Given the description of an element on the screen output the (x, y) to click on. 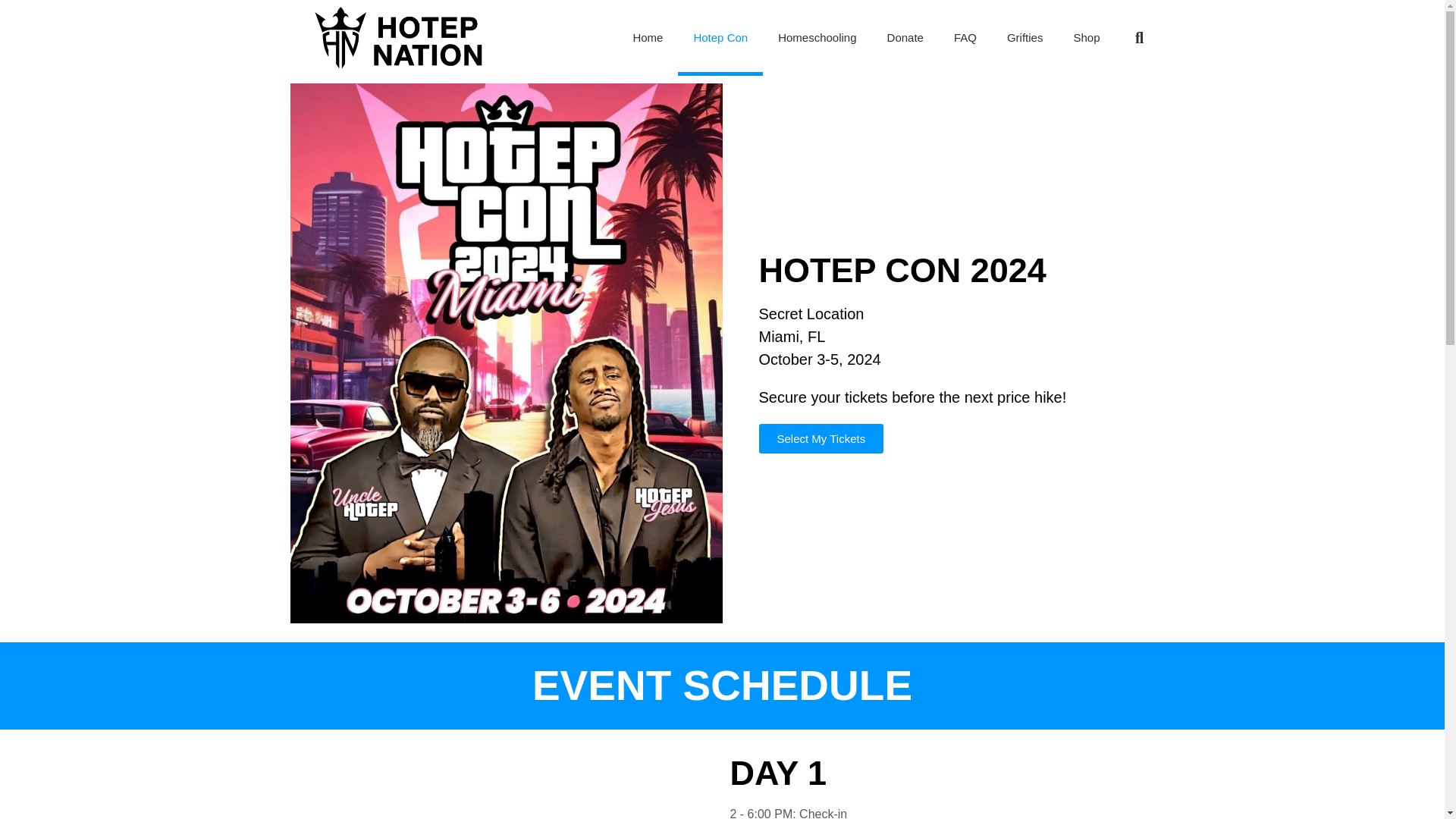
Hotep Con (720, 38)
Select My Tickets (820, 438)
Homeschooling (816, 38)
